Given the description of an element on the screen output the (x, y) to click on. 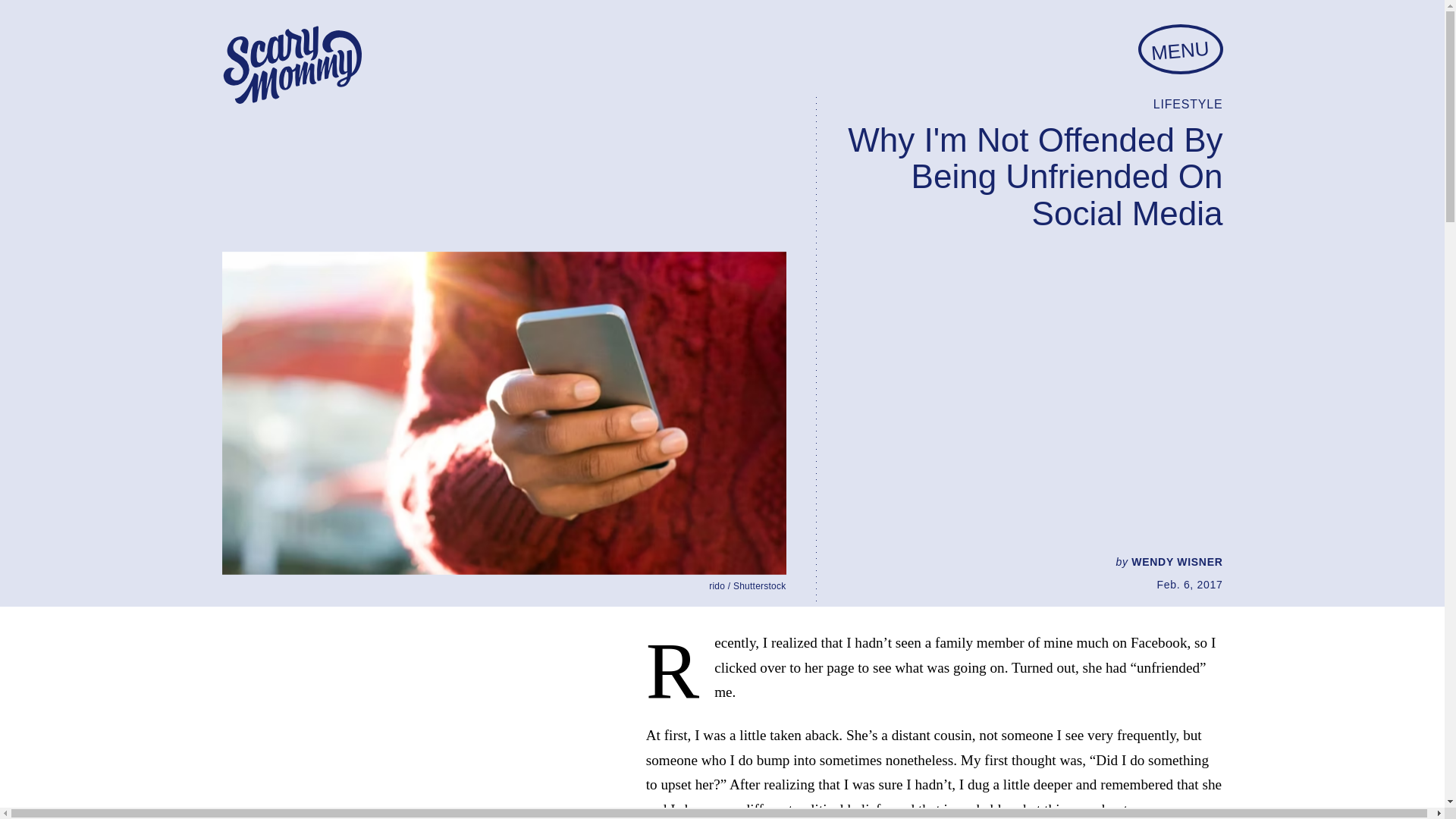
Scary Mommy (291, 64)
